Given the description of an element on the screen output the (x, y) to click on. 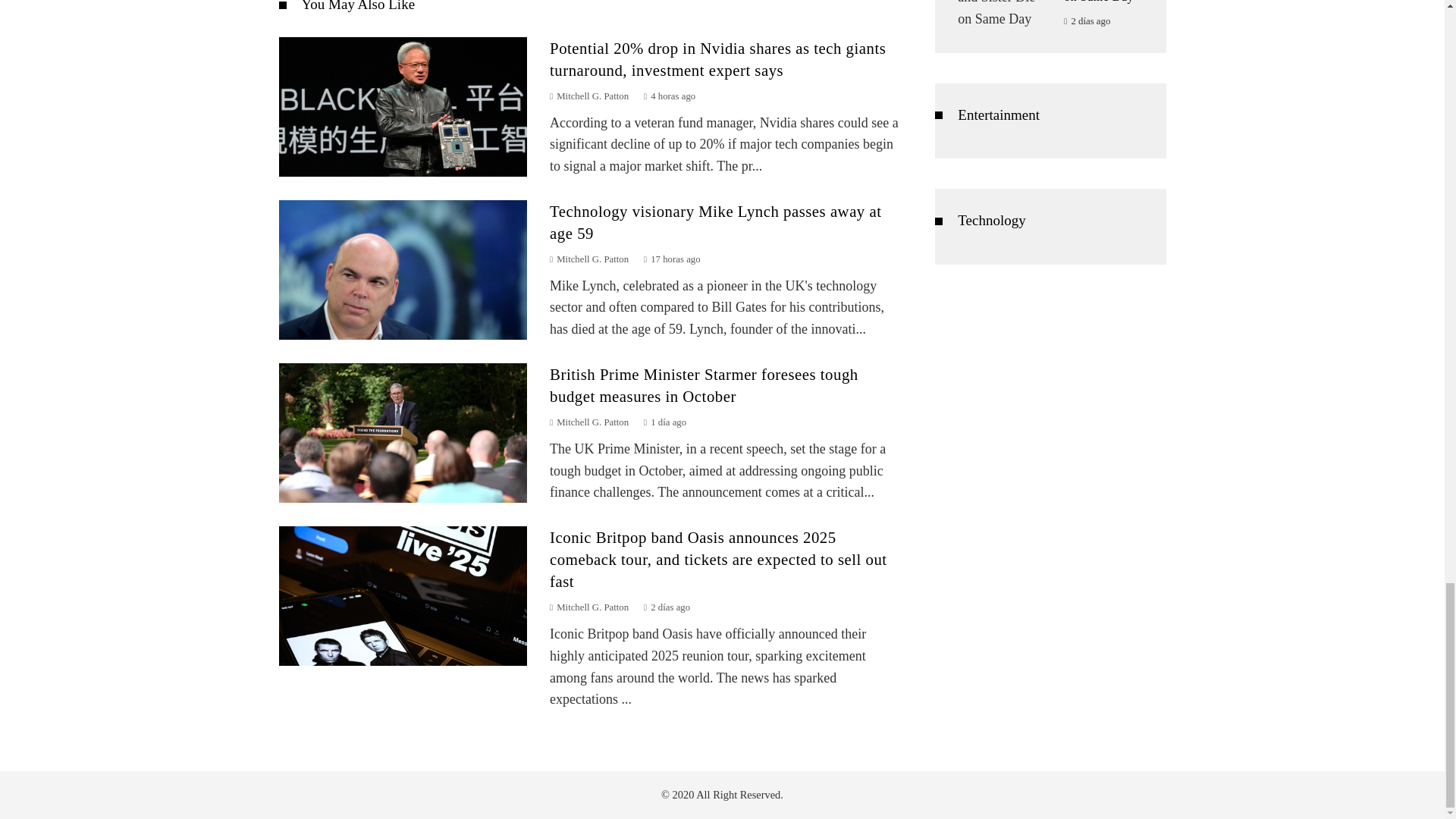
Technology visionary Mike Lynch passes away at age 59 (715, 221)
Technology visionary Mike Lynch passes away at age 59 (403, 269)
Technology visionary Mike Lynch passes away at age 59 (715, 221)
